Given the description of an element on the screen output the (x, y) to click on. 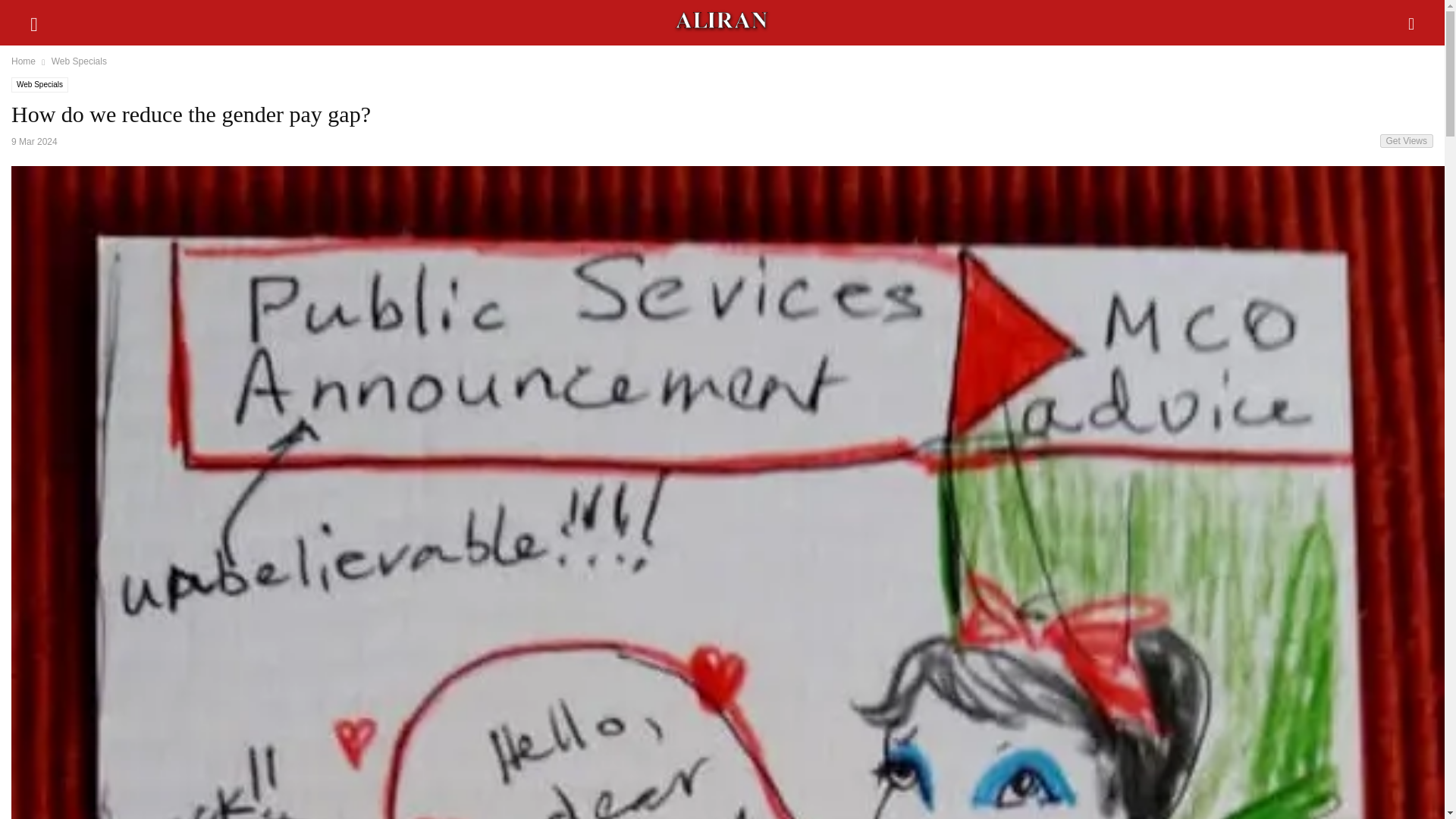
View all posts in Web Specials (78, 61)
Search (45, 20)
Web Specials (78, 61)
Get Views (1406, 141)
Home (22, 61)
Web Specials (39, 84)
